Given the description of an element on the screen output the (x, y) to click on. 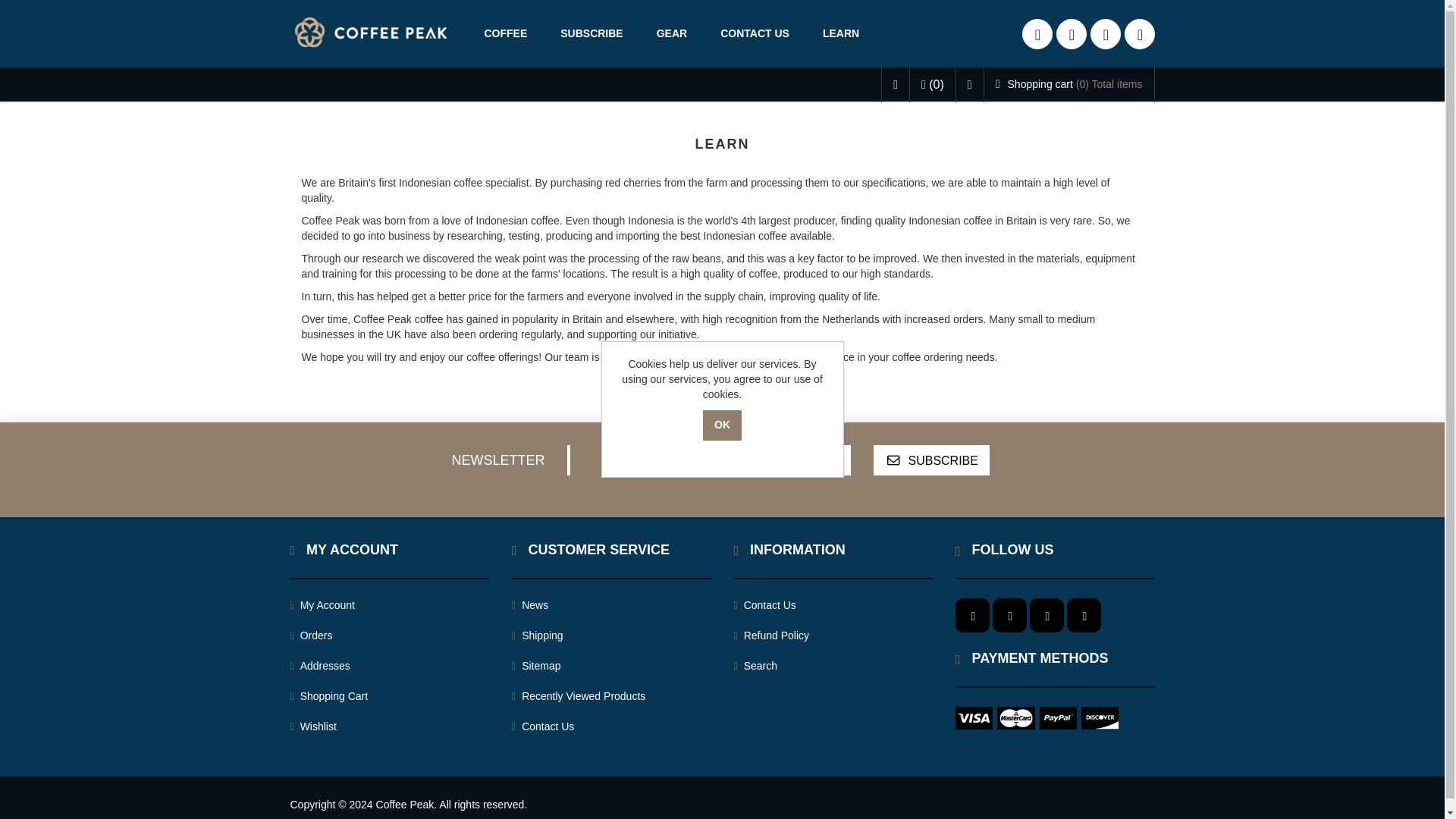
CONTACT US (754, 33)
Refund Policy (771, 635)
Search (755, 666)
Recently Viewed Products (578, 696)
LEARN (841, 33)
GEAR (671, 33)
Shopping Cart (328, 696)
News (530, 605)
Orders (310, 635)
COFFEE (505, 33)
